Given the description of an element on the screen output the (x, y) to click on. 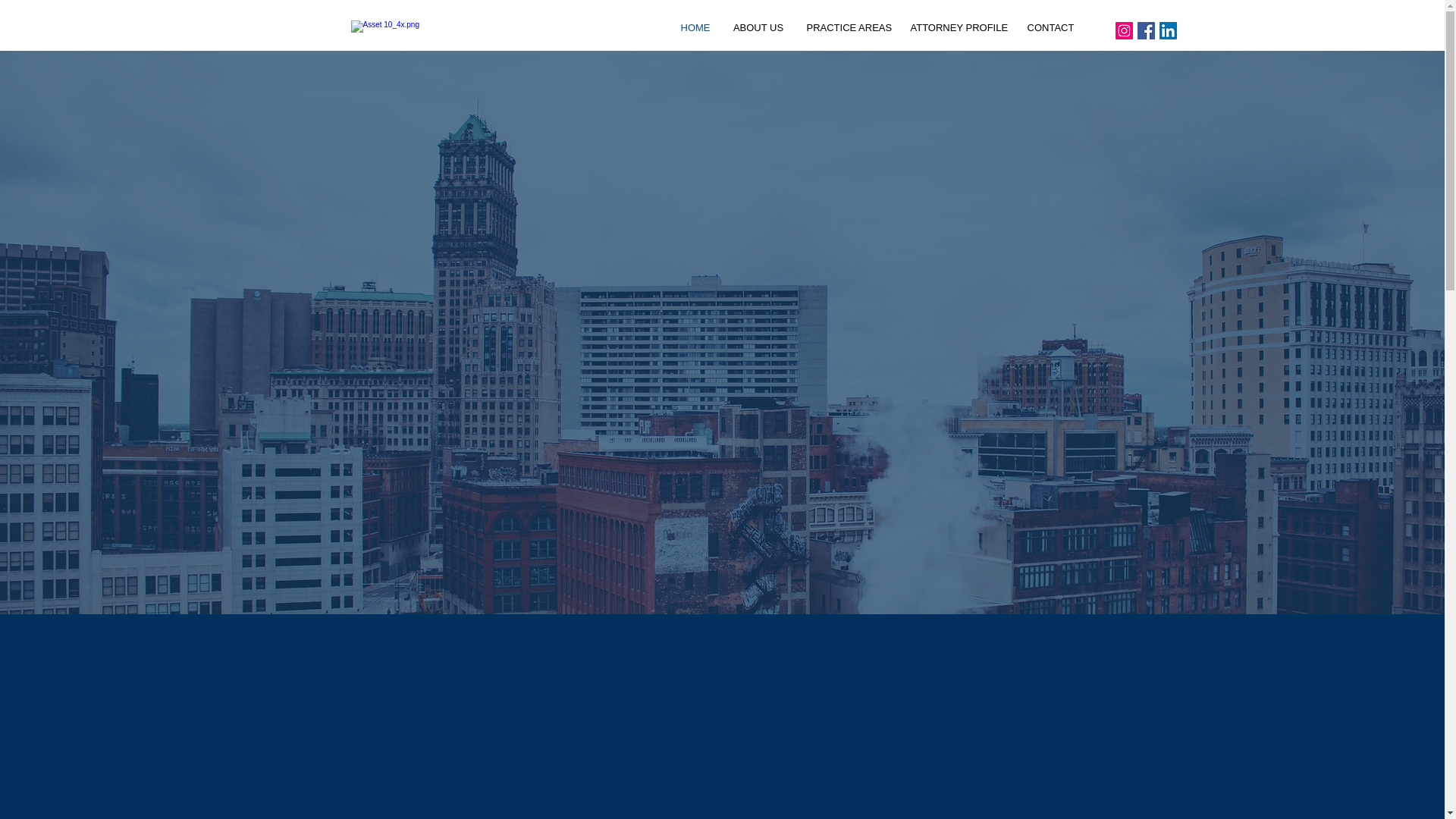
ABOUT US (758, 27)
ATTORNEY PROFILE (957, 27)
HOME (694, 27)
CONTACT (1051, 27)
PRACTICE AREAS (846, 27)
